Given the description of an element on the screen output the (x, y) to click on. 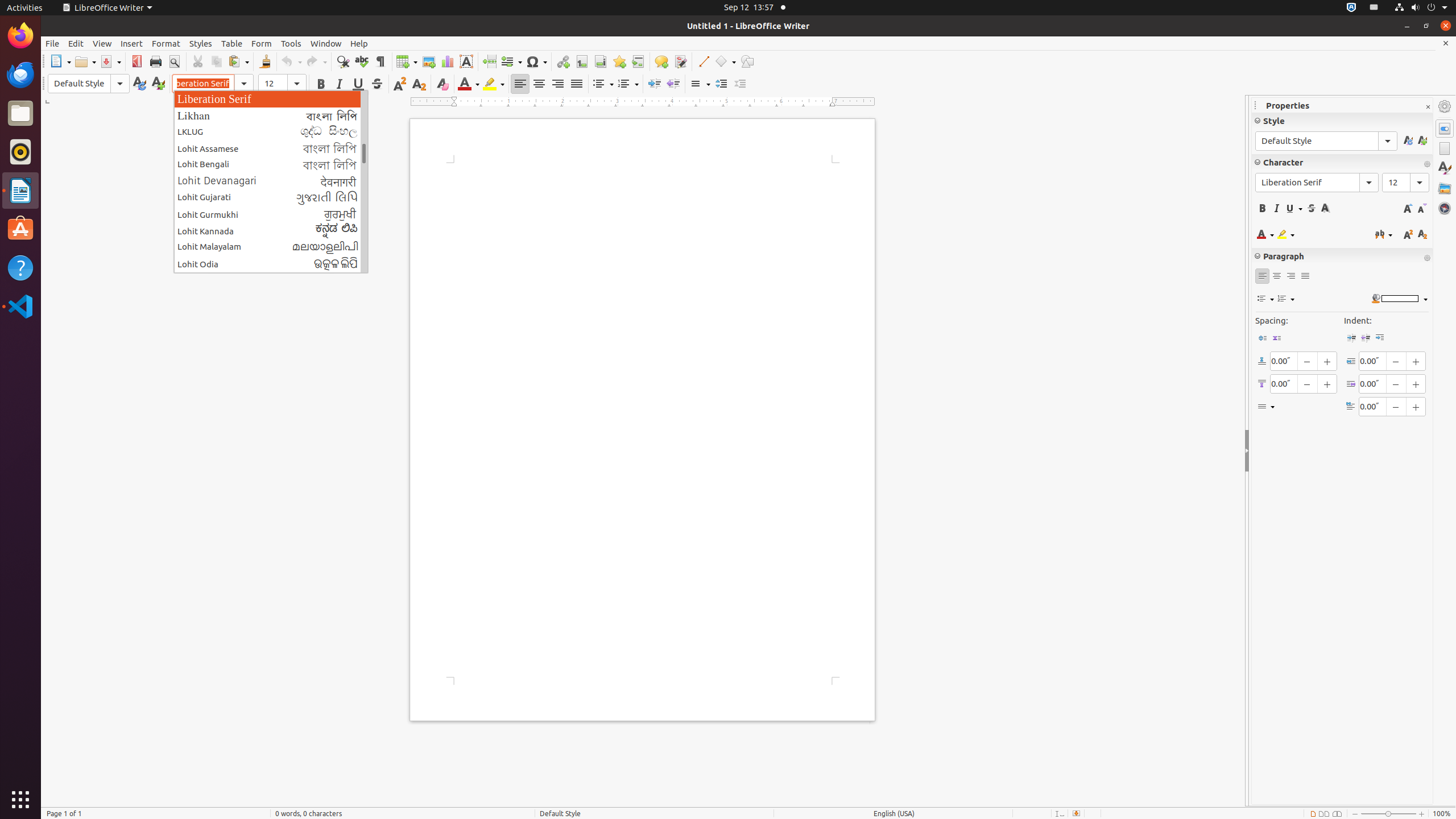
Font Color Element type: push-button (468, 83)
Lohit Bengali Element type: list-item (270, 164)
Page Element type: radio-button (1444, 148)
Image Element type: push-button (428, 61)
Increase Element type: push-button (721, 83)
